Given the description of an element on the screen output the (x, y) to click on. 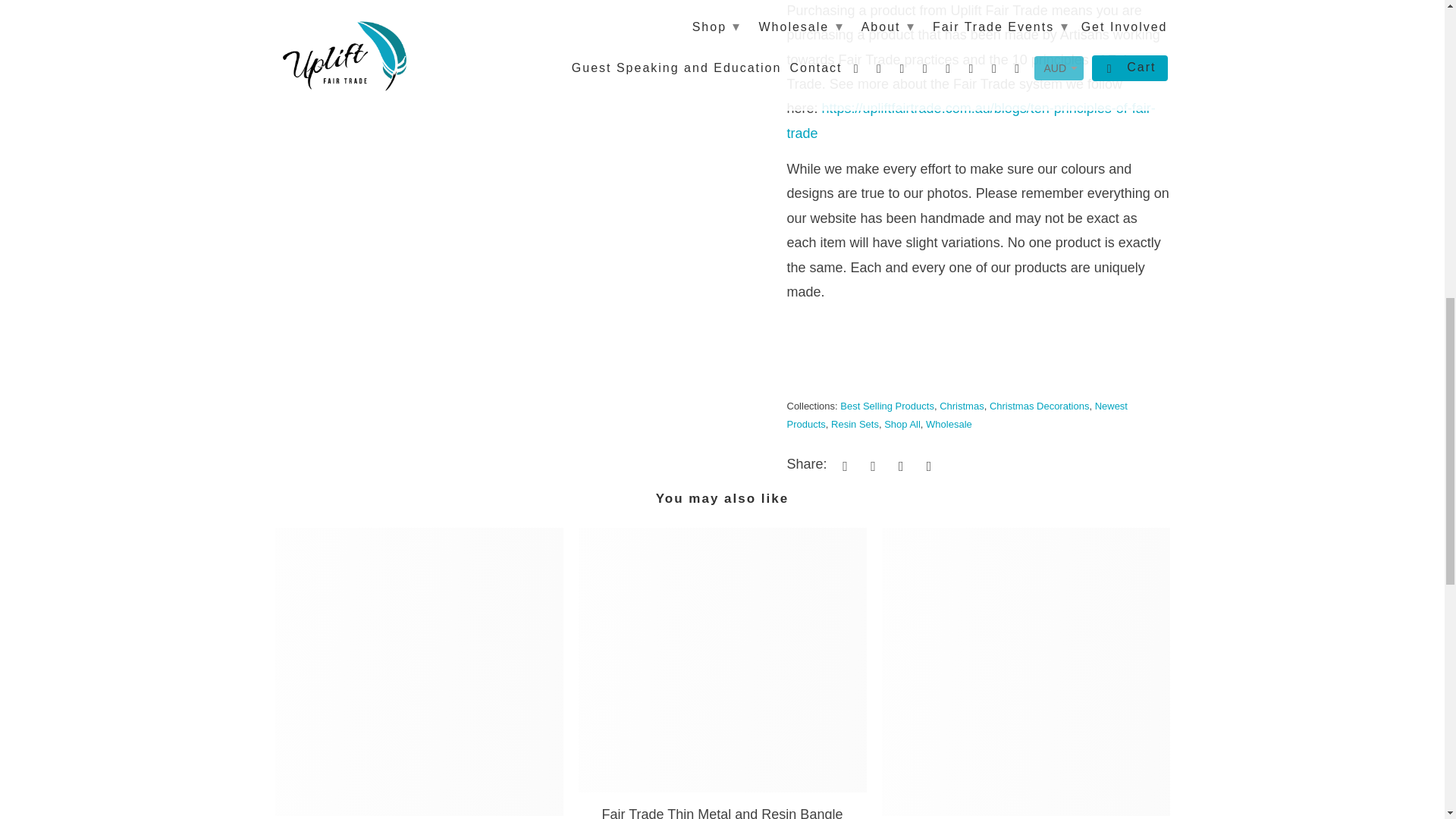
Wholesale (949, 423)
Shop All (901, 423)
Resin Sets (855, 423)
Best Selling Products (887, 405)
Christmas Decorations (1039, 405)
Christmas (961, 405)
Newest Products (956, 414)
